Given the description of an element on the screen output the (x, y) to click on. 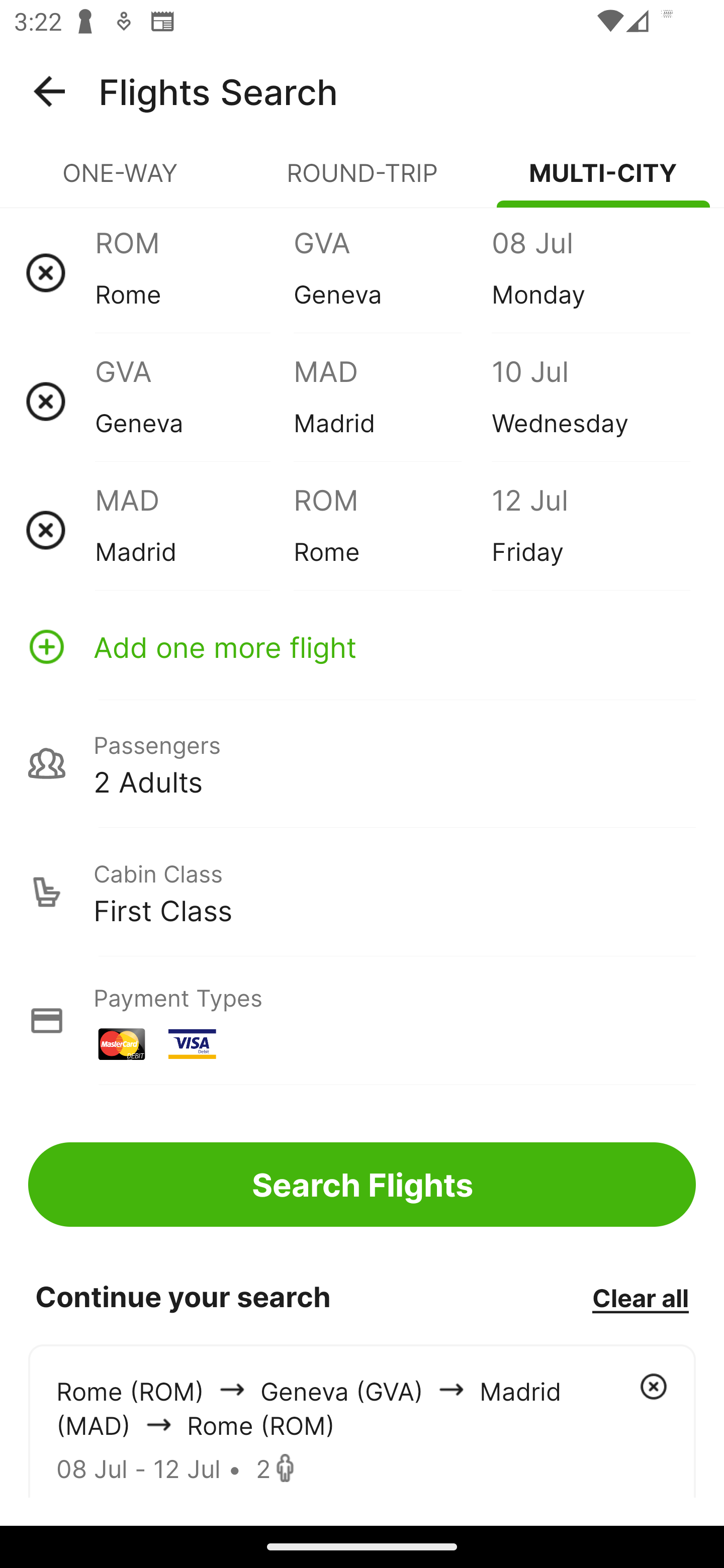
ONE-WAY (120, 180)
ROUND-TRIP (361, 180)
MULTI-CITY (603, 180)
ROM Rome (193, 272)
GVA Geneva (392, 272)
08 Jul Monday (590, 272)
GVA Geneva (193, 401)
MAD Madrid (392, 401)
10 Jul Wednesday (590, 401)
MAD Madrid (193, 529)
ROM Rome (392, 529)
12 Jul Friday (590, 529)
Add one more flight (362, 646)
Passengers 2 Adults (362, 762)
Cabin Class First Class (362, 891)
Payment Types (362, 1020)
Search Flights (361, 1184)
Clear all (640, 1297)
